Given the description of an element on the screen output the (x, y) to click on. 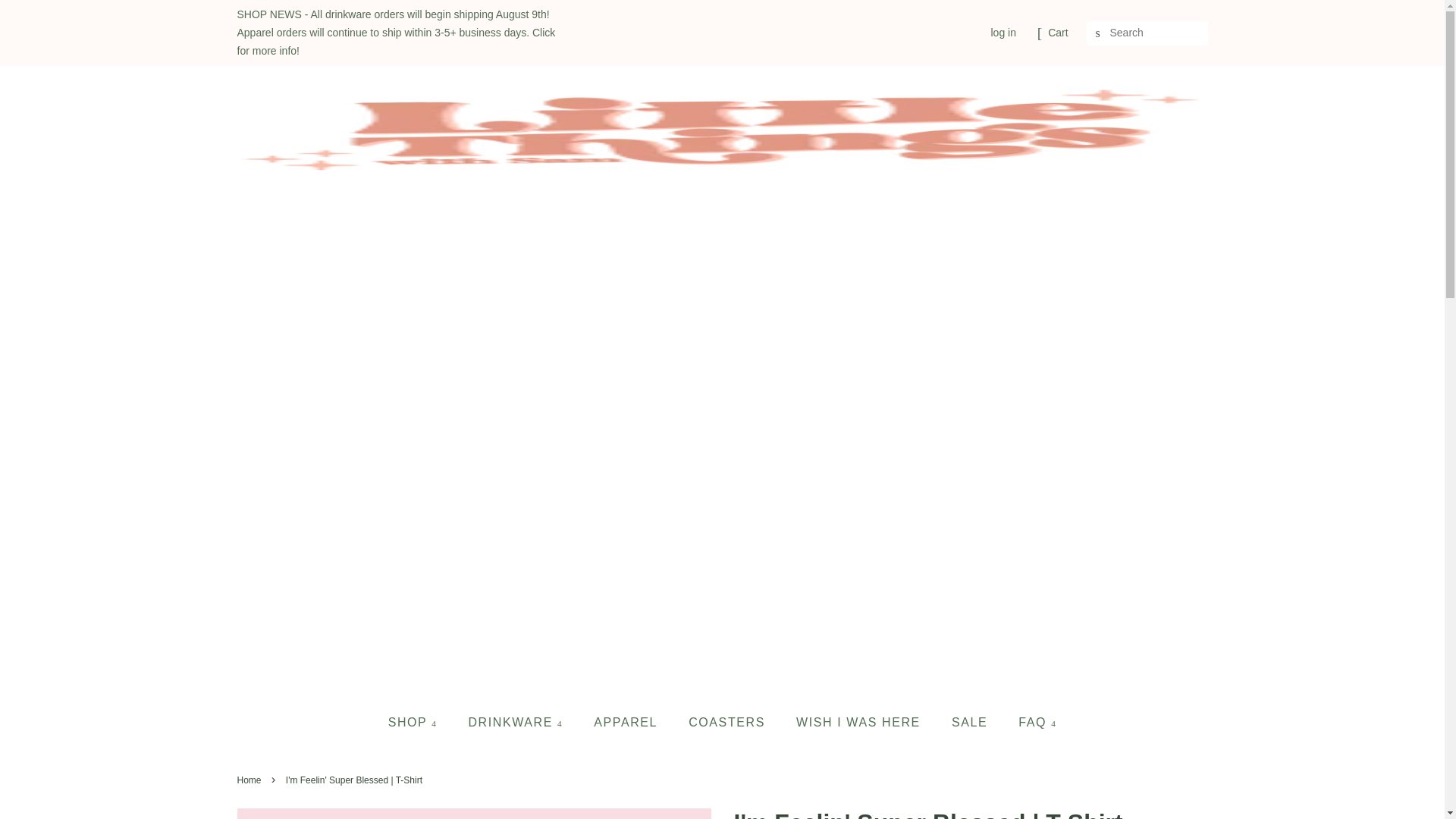
Back to the frontpage (249, 779)
DRINKWARE (517, 721)
SHOP (420, 721)
SEARCH (1097, 33)
Cart (1057, 33)
log in (1002, 32)
